Given the description of an element on the screen output the (x, y) to click on. 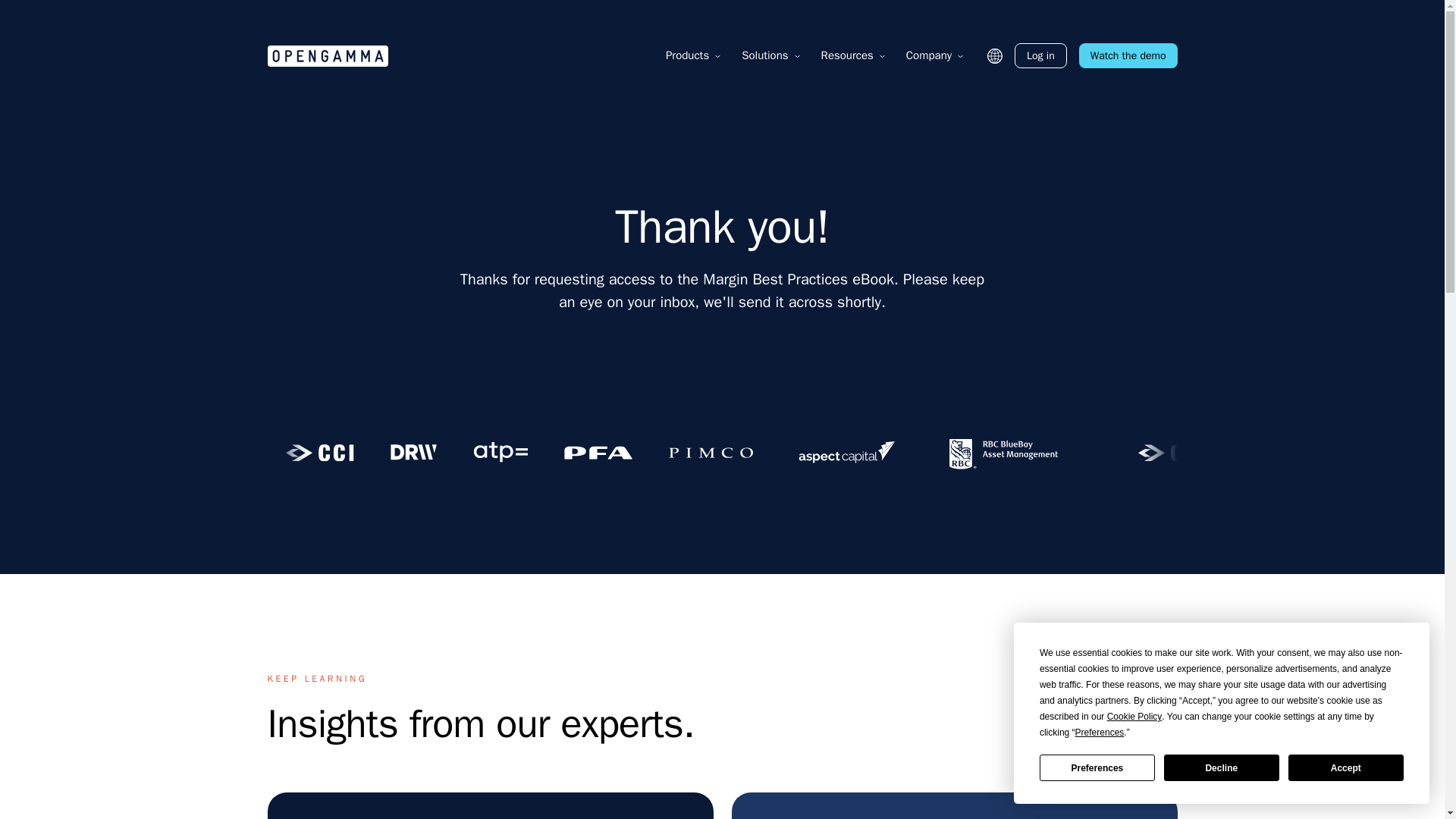
Products (687, 55)
Resources (847, 55)
Solutions (764, 55)
Preferences (1099, 732)
Watch the demo (1127, 55)
Accept (1345, 767)
Decline (1221, 767)
Preferences (1096, 767)
Company (928, 55)
Cookie Policy (1133, 716)
Log in (1040, 55)
